Given the description of an element on the screen output the (x, y) to click on. 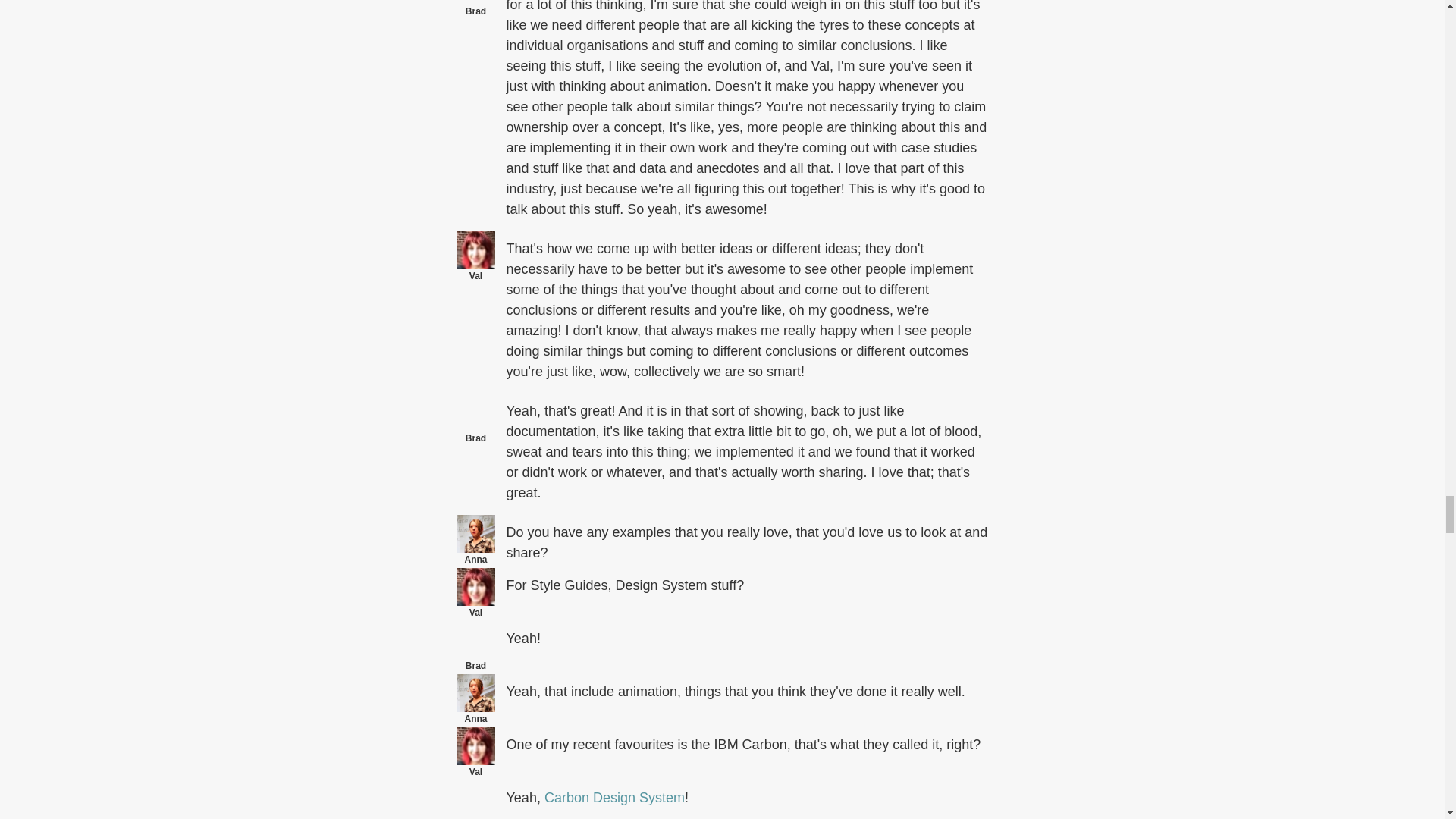
Carbon Design System (614, 797)
